Given the description of an element on the screen output the (x, y) to click on. 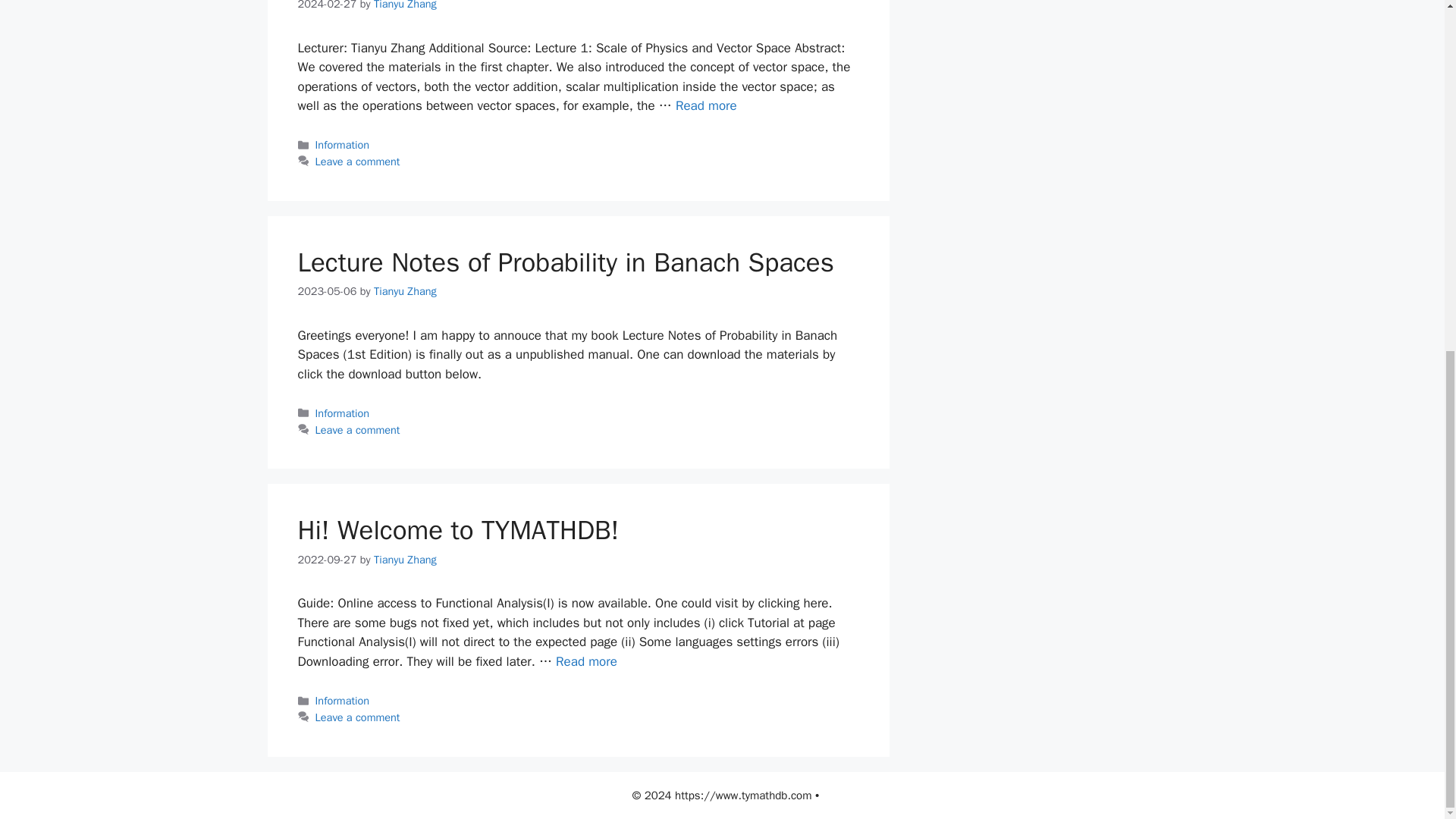
View all posts by Tianyu Zhang (405, 5)
Read more (705, 105)
Lecture Notes in Physics4A (705, 105)
Information (342, 413)
Lecture Notes of Probability in Banach Spaces (564, 262)
Read more (586, 661)
Hi! Welcome to TYMATHDB! (586, 661)
Leave a comment (357, 161)
Information (342, 144)
Hi! Welcome to TYMATHDB! (457, 530)
Information (342, 700)
Tianyu Zhang (405, 5)
Leave a comment (357, 429)
Tianyu Zhang (405, 291)
View all posts by Tianyu Zhang (405, 559)
